Given the description of an element on the screen output the (x, y) to click on. 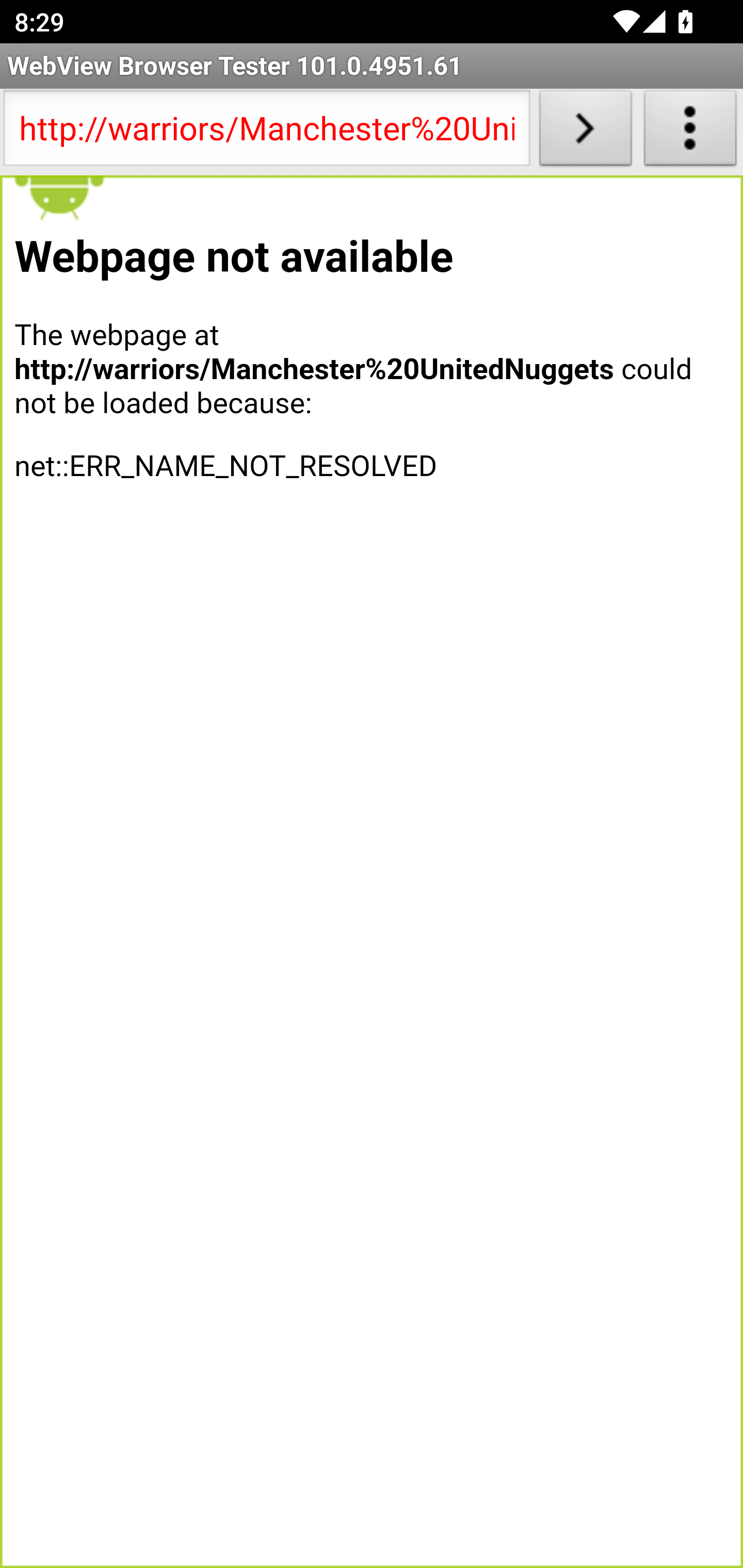
http://warriors/Manchester%20UnitedNuggets (266, 132)
Load URL (585, 132)
About WebView (690, 132)
